Given the description of an element on the screen output the (x, y) to click on. 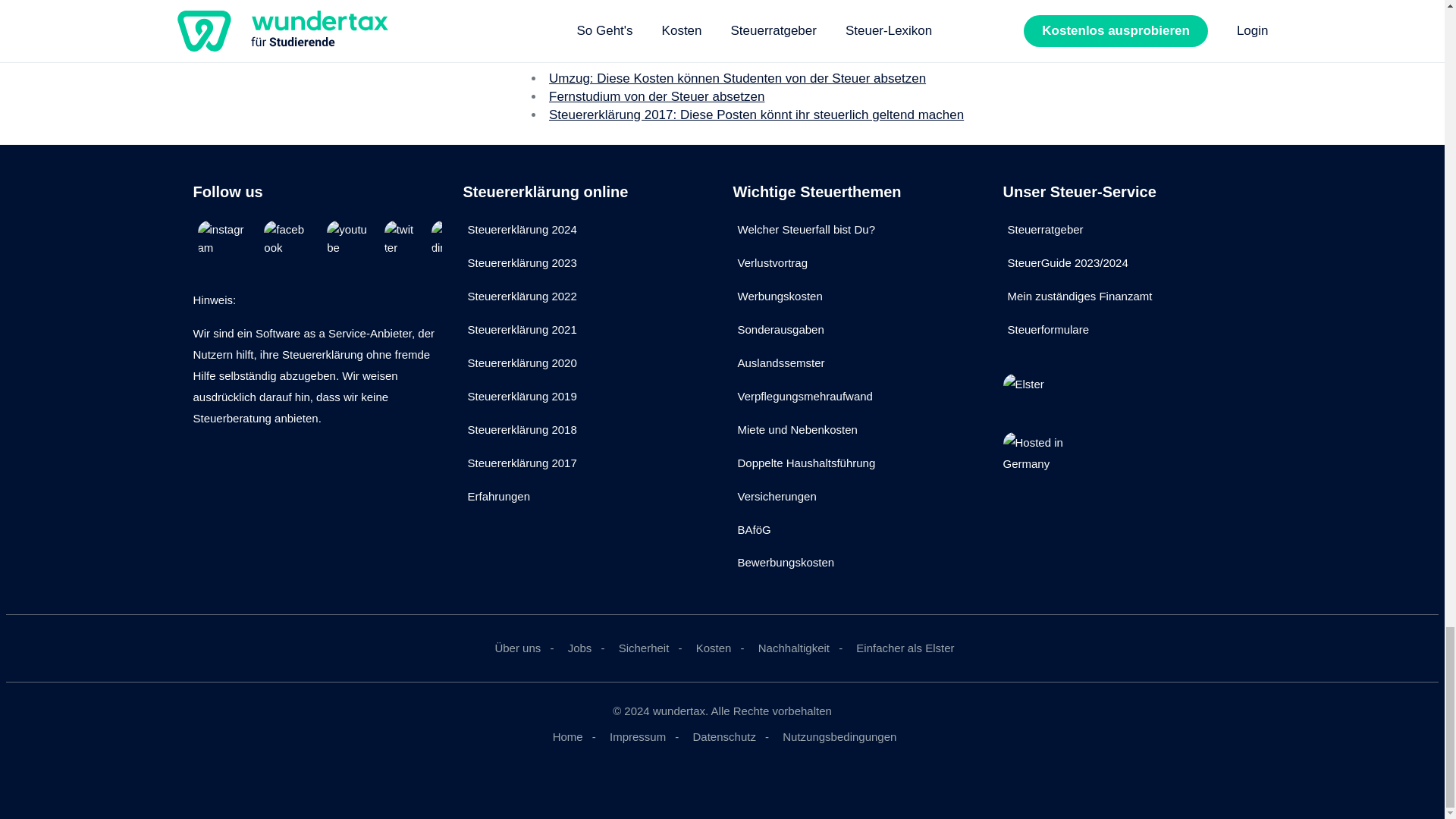
Hosted in Germany (1037, 467)
Fernstudium von der Steuer absetzen (656, 96)
Elster Online (1037, 393)
